Given the description of an element on the screen output the (x, y) to click on. 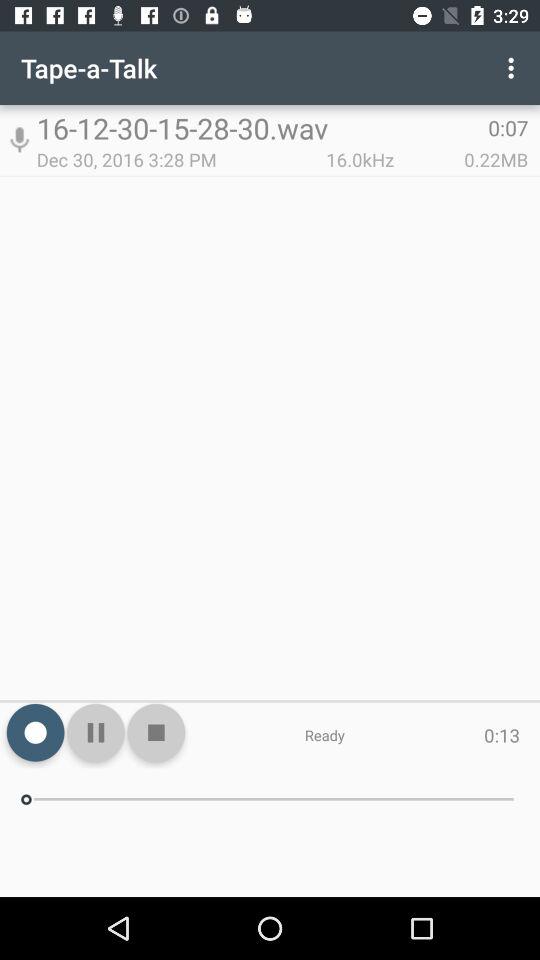
turn off the item to the right of 16 12 30 item (513, 67)
